Given the description of an element on the screen output the (x, y) to click on. 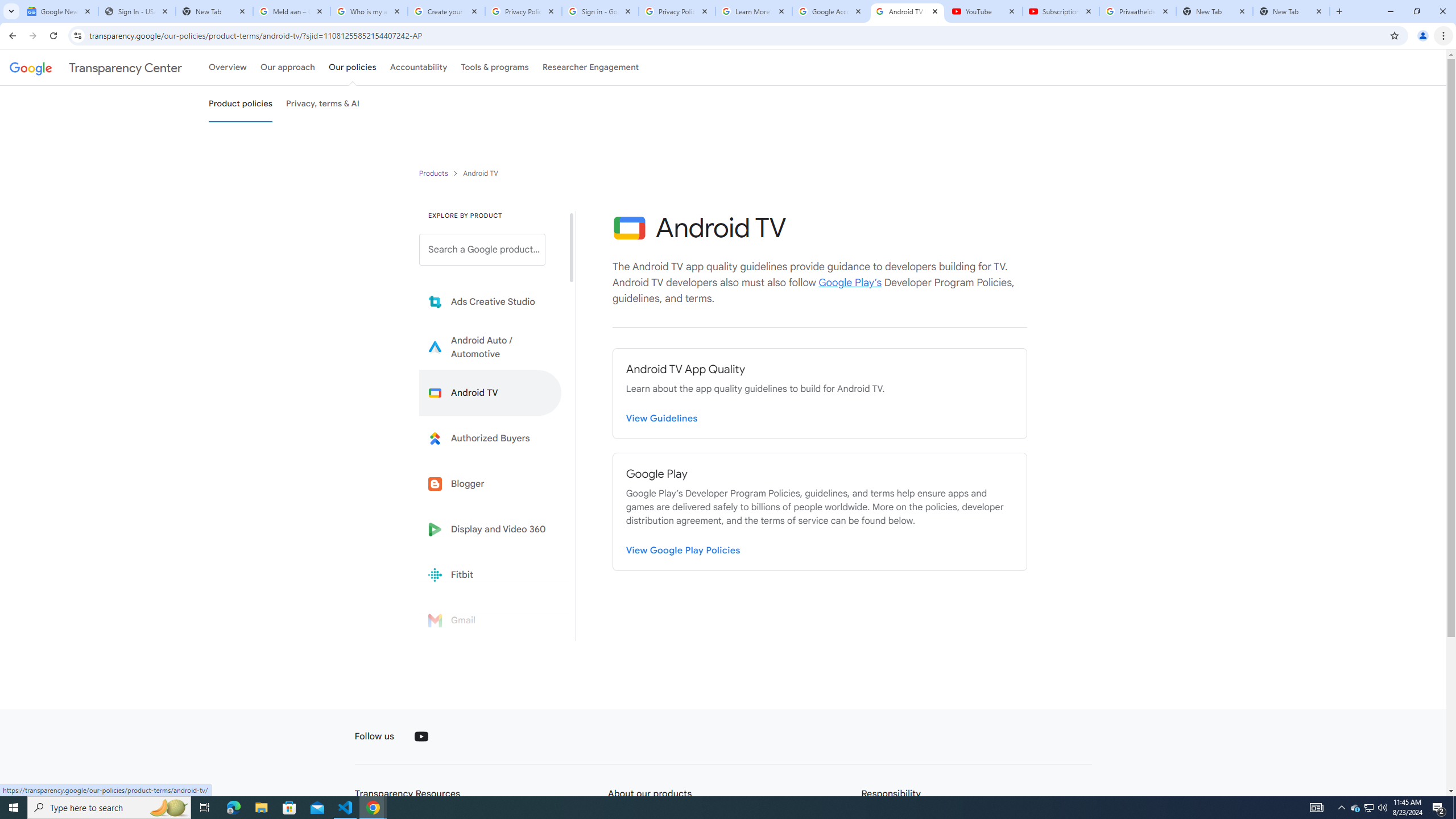
Learn more about Android TV (490, 393)
